Given the description of an element on the screen output the (x, y) to click on. 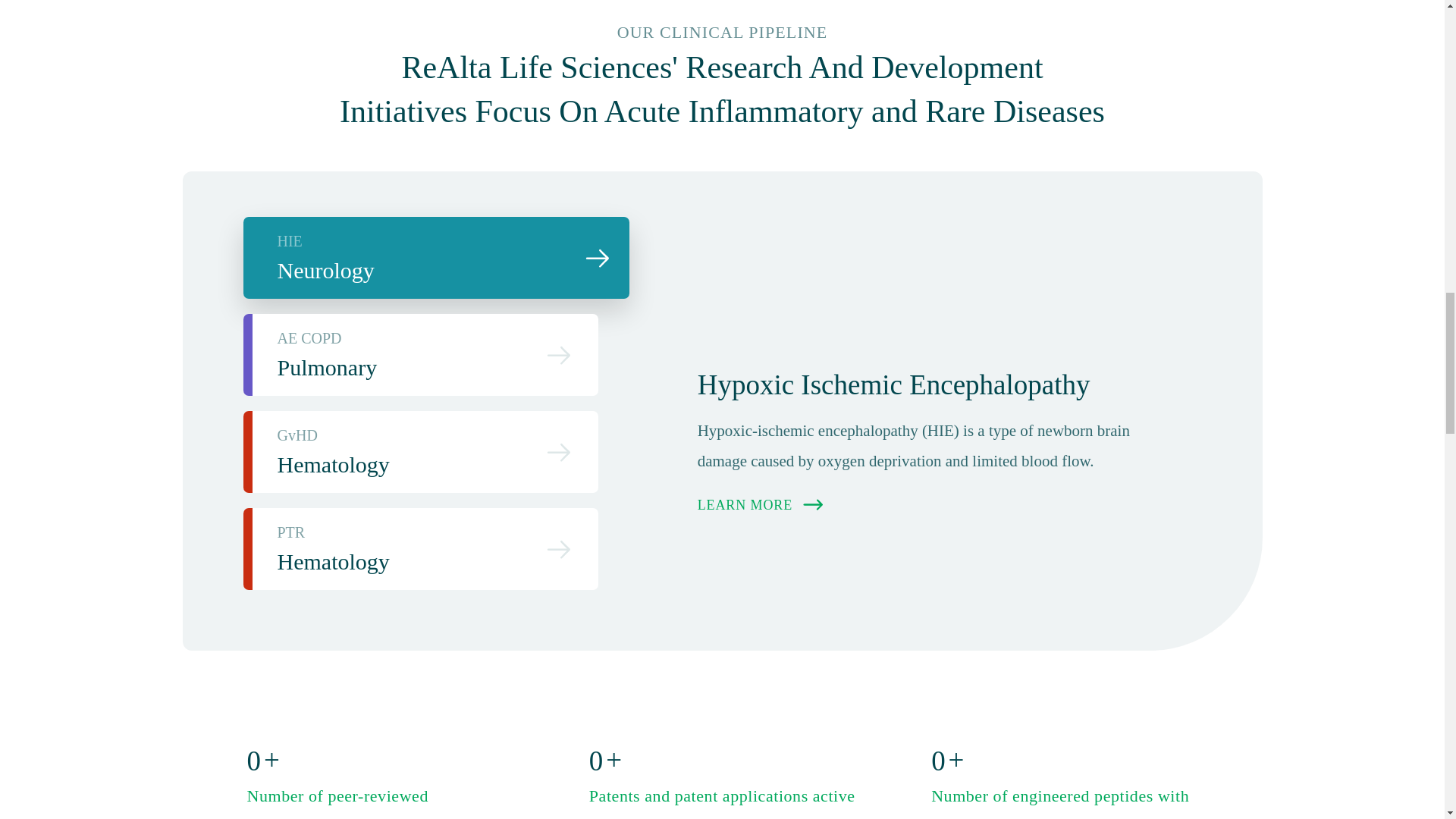
LEARN MORE (419, 452)
brainstorm (762, 504)
